Given the description of an element on the screen output the (x, y) to click on. 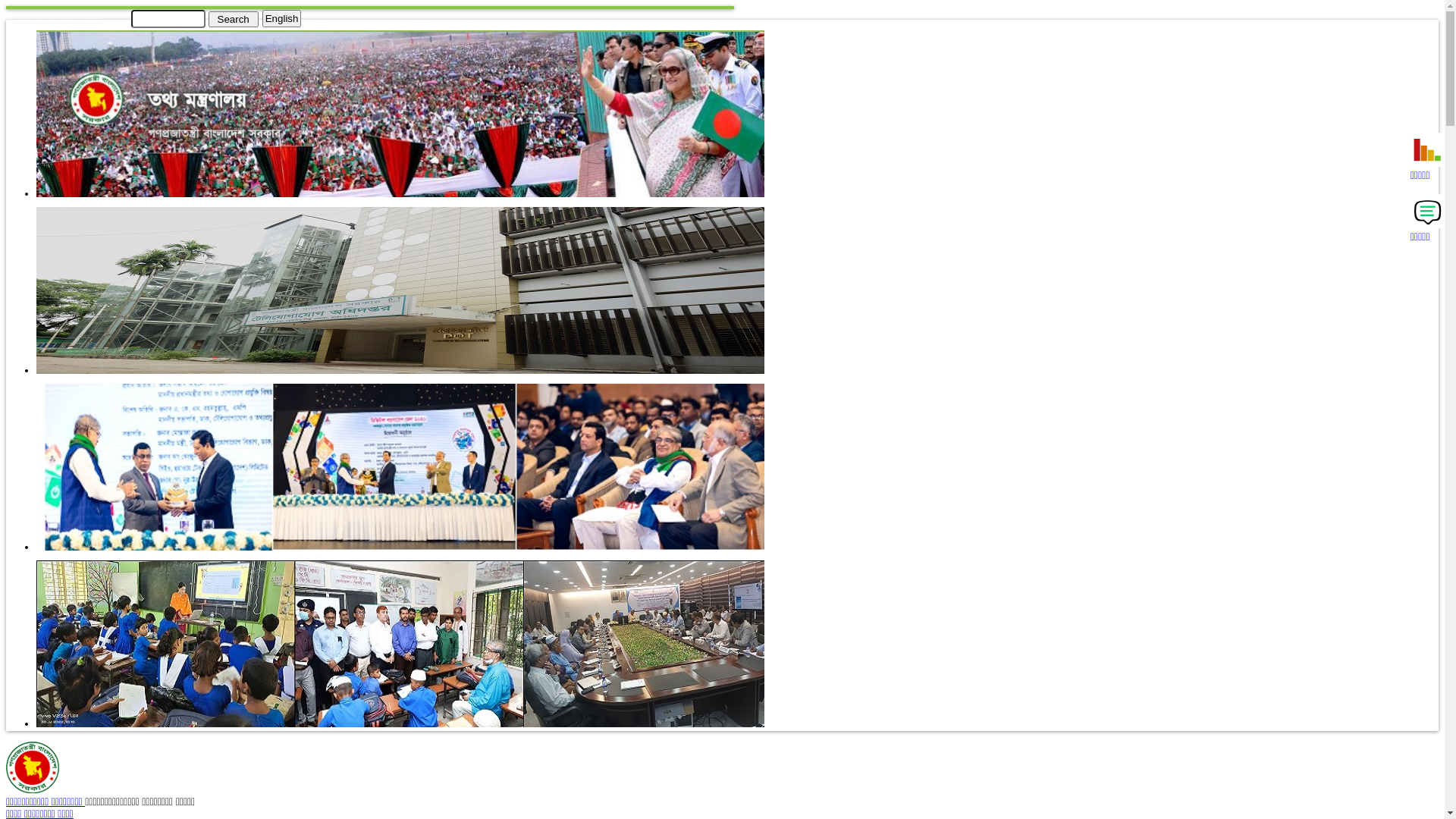
Search Element type: text (232, 18)
English Element type: text (281, 18)
Home Element type: hover (32, 789)
